Given the description of an element on the screen output the (x, y) to click on. 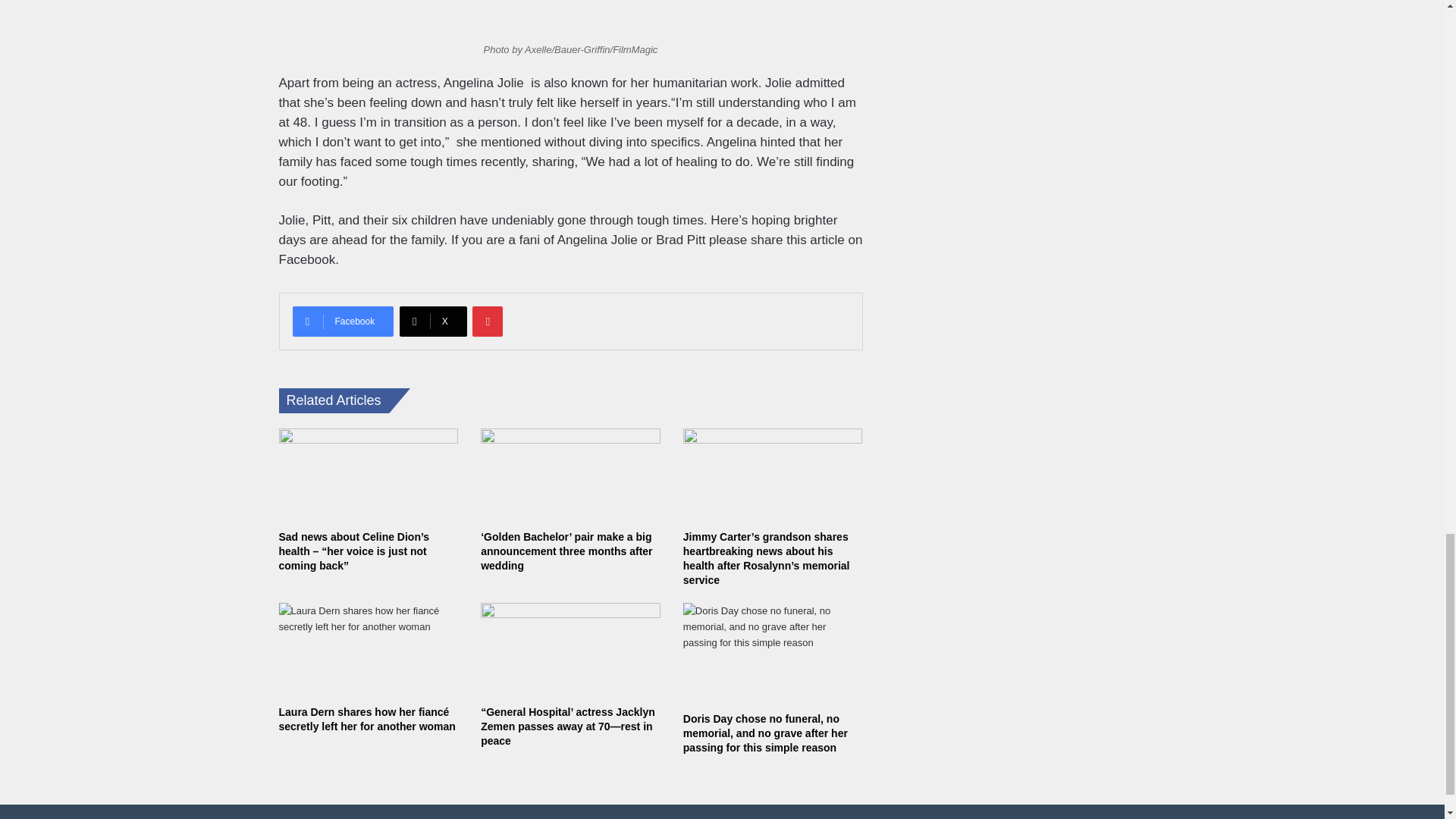
X (432, 321)
Pinterest (486, 321)
Facebook (343, 321)
X (432, 321)
Facebook (343, 321)
Pinterest (486, 321)
